Given the description of an element on the screen output the (x, y) to click on. 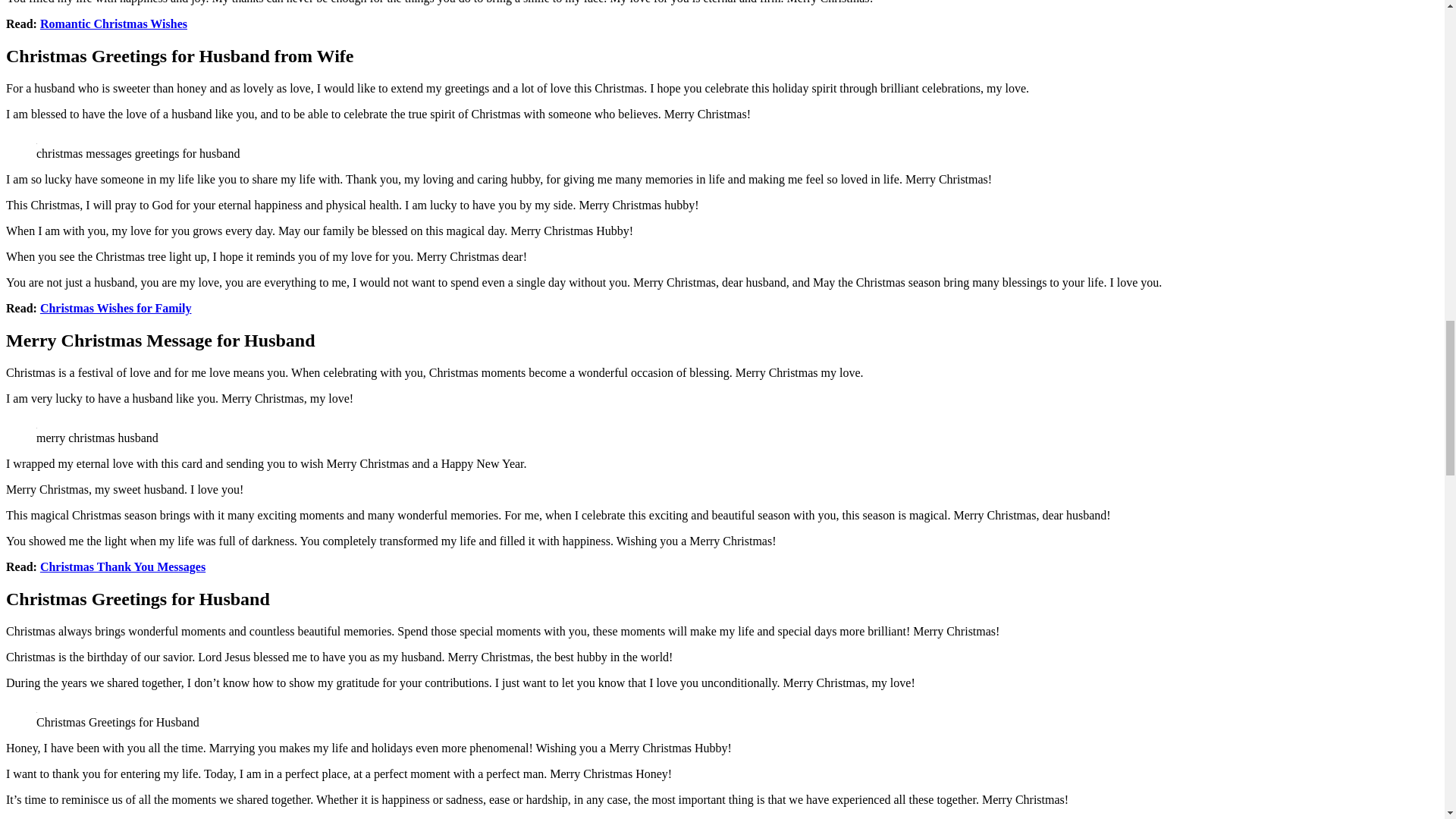
Christmas Wishes for Family (116, 308)
Christmas Thank You Messages (122, 566)
Romantic Christmas Wishes (113, 23)
